Given the description of an element on the screen output the (x, y) to click on. 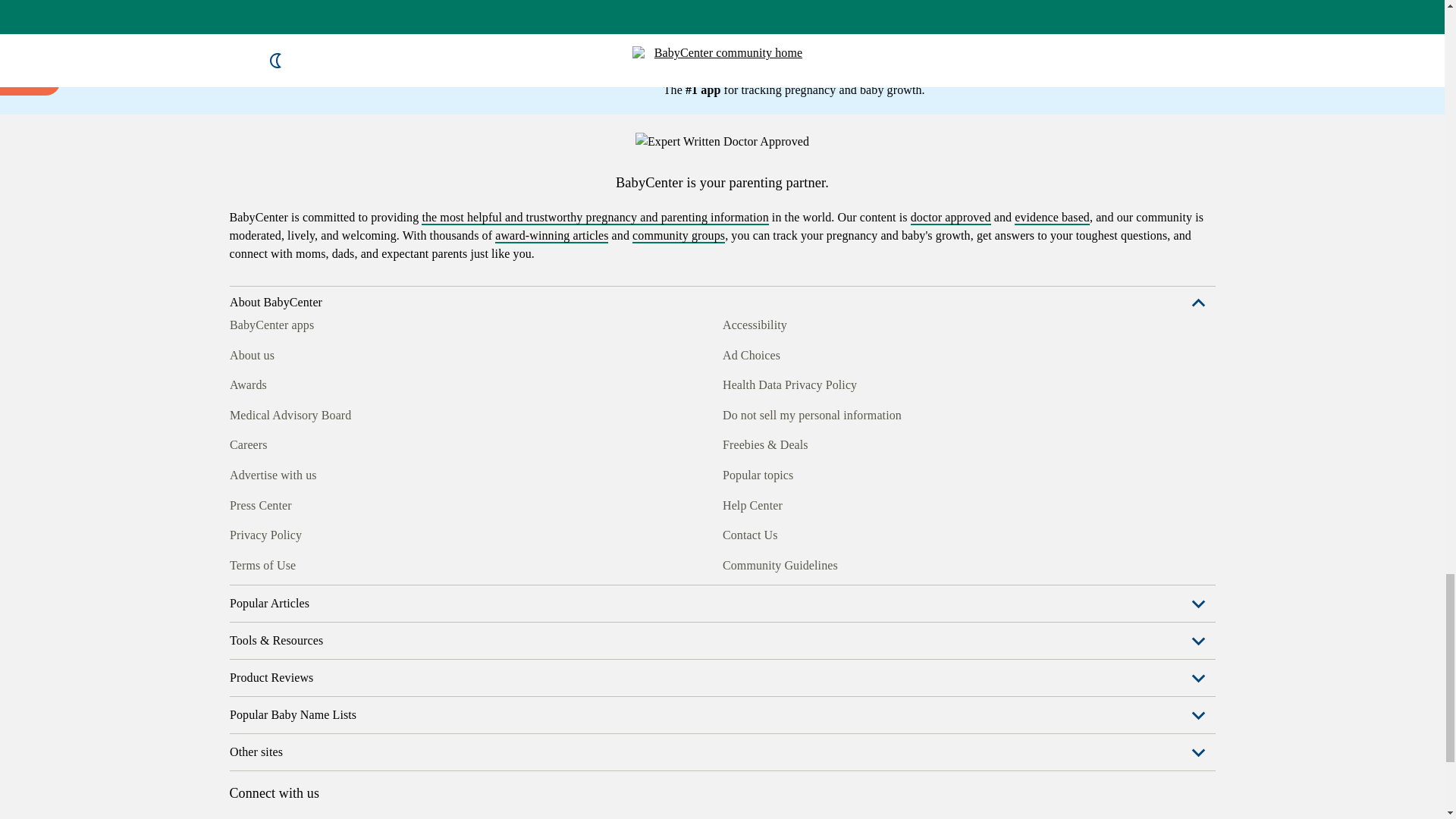
BabyCenter YouTube channel (344, 563)
BabyCenter Facebook page (239, 563)
BabyCenter Pinterest board (309, 563)
BabyCenter Twitter feed (379, 563)
BabyCenter Instagram feed (274, 563)
